Given the description of an element on the screen output the (x, y) to click on. 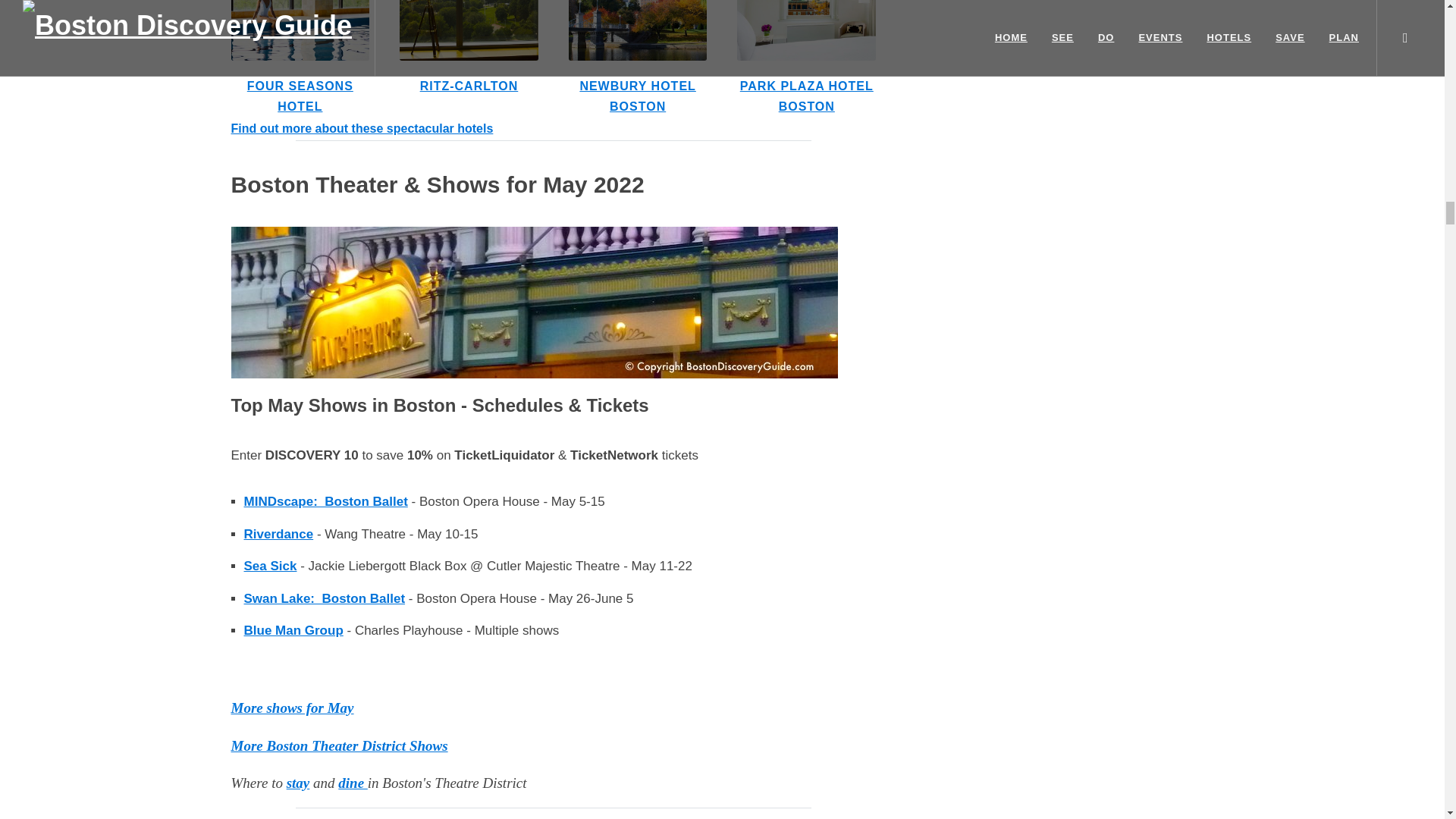
Four Seasons Hotel in Boston (299, 30)
Park Plaza Hotel Boston (806, 30)
Newbury Hotel Boston (638, 30)
Ritz-Carlton Boston Common (468, 30)
